Given the description of an element on the screen output the (x, y) to click on. 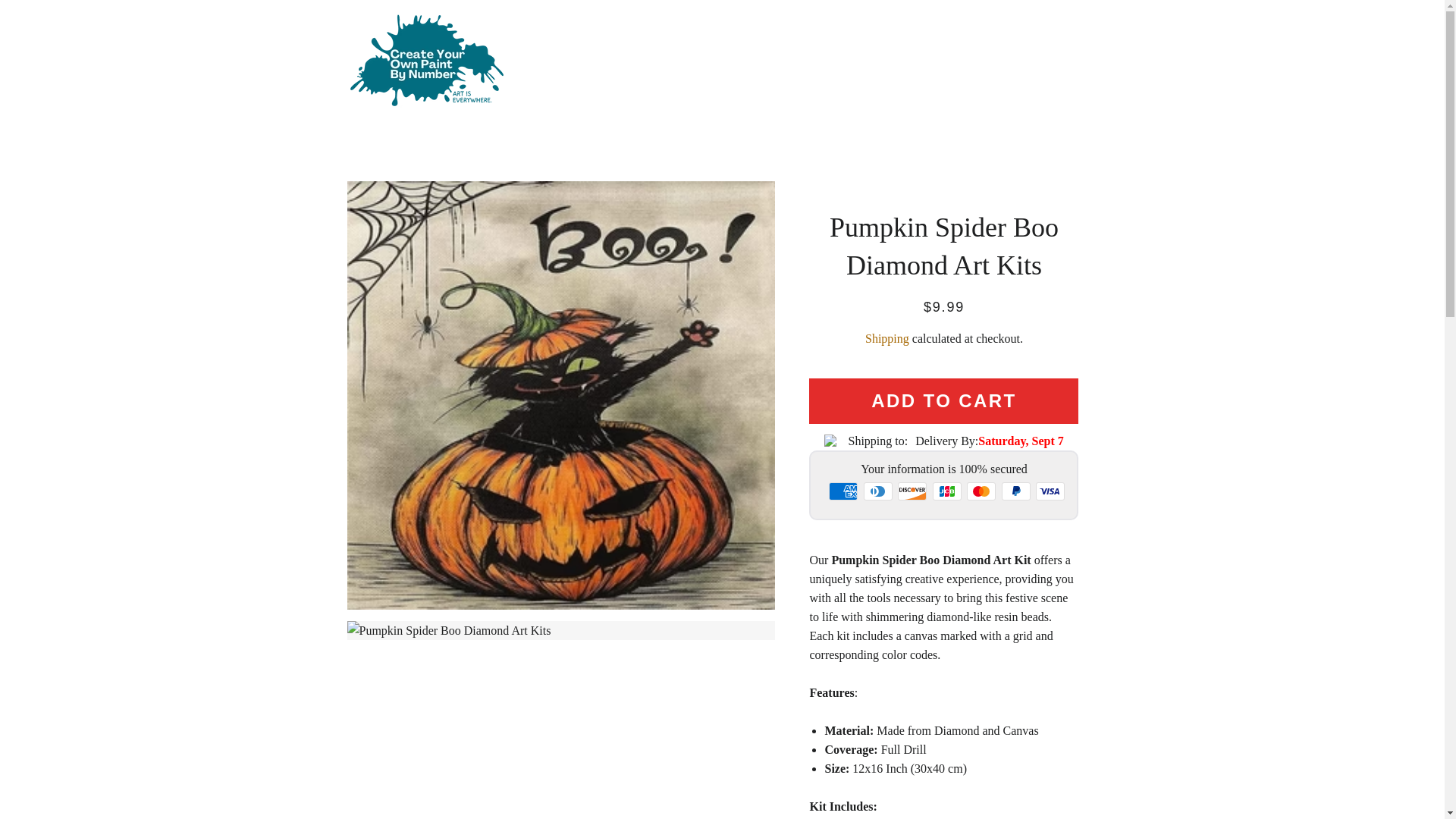
Visa (1049, 491)
Diners Club (877, 491)
Discover (912, 491)
ADD TO CART (943, 401)
American Express (842, 491)
PayPal (1015, 491)
JCB (946, 491)
Mastercard (980, 491)
Shipping (886, 338)
